Given the description of an element on the screen output the (x, y) to click on. 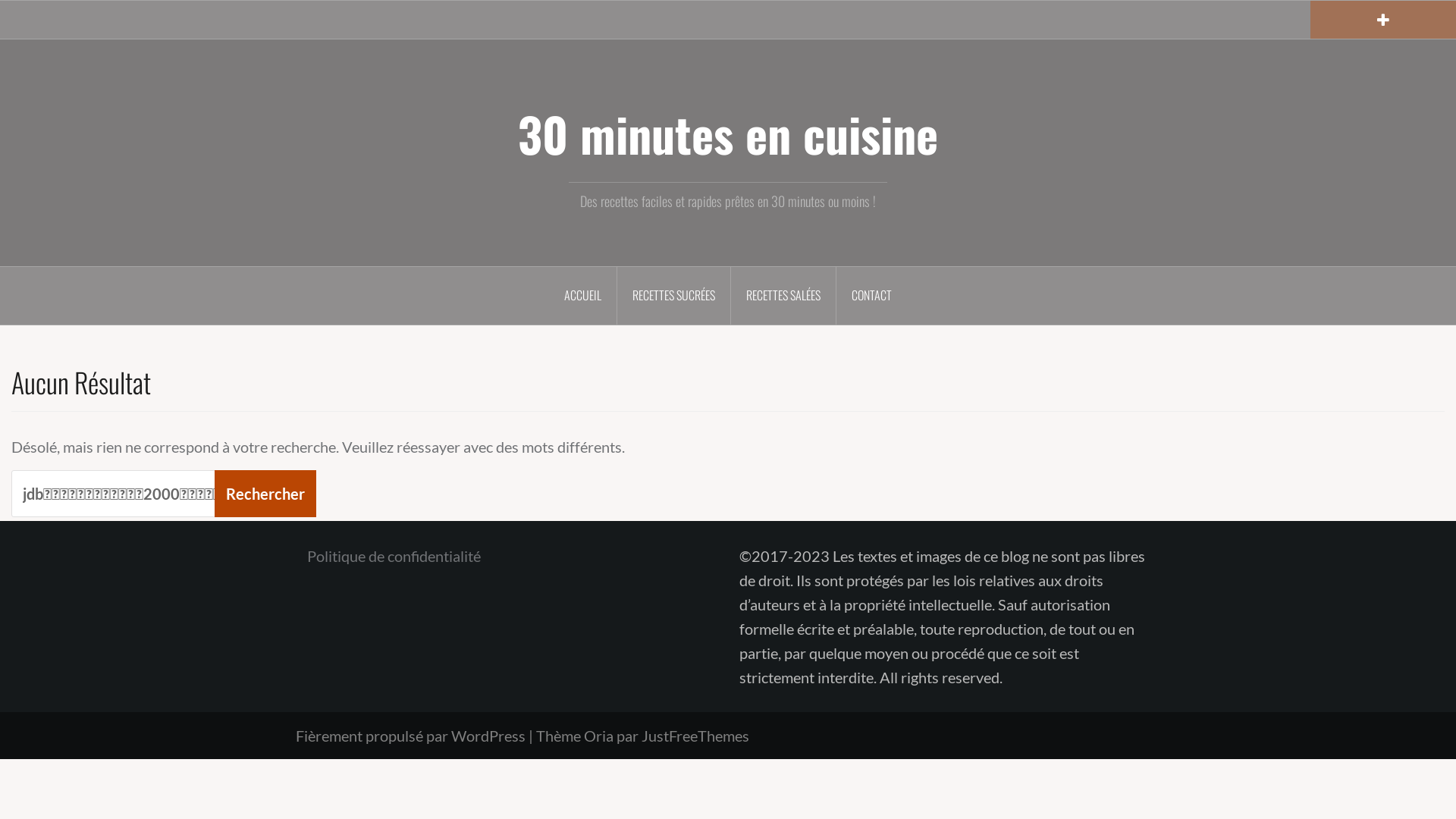
Rechercher Element type: text (265, 493)
Oria Element type: text (598, 735)
Rechercher Element type: text (50, 23)
ACCUEIL Element type: text (583, 295)
CONTACT Element type: text (871, 295)
30 minutes en cuisine Element type: text (727, 133)
